Given the description of an element on the screen output the (x, y) to click on. 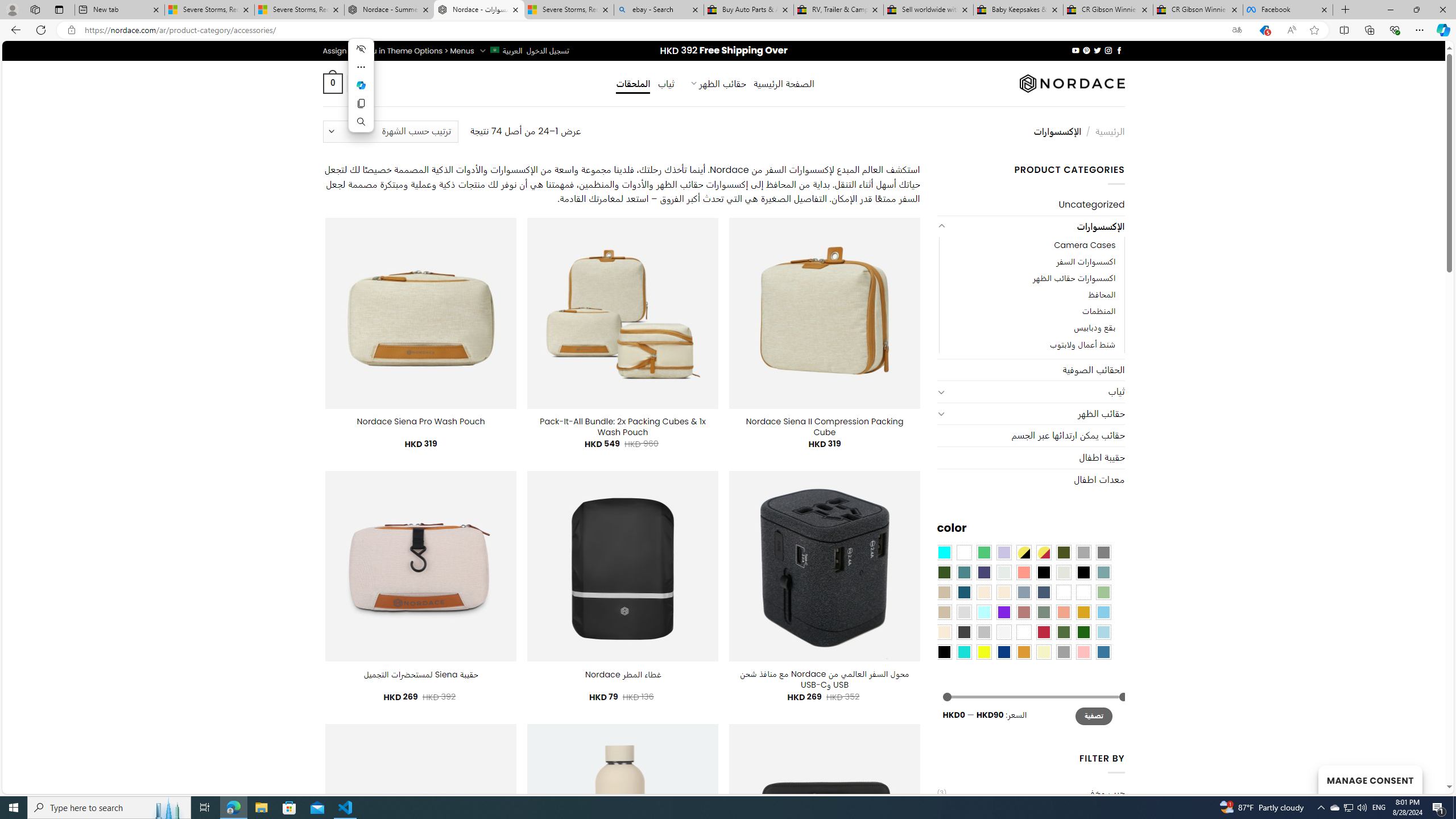
Ask Copilot (360, 85)
Light Purple (1003, 551)
Kelp (1063, 591)
Nordace (1072, 83)
Light Taupe (944, 611)
Nordace - Summer Adventures 2024 (389, 9)
ebay - Search (658, 9)
Refresh (40, 29)
Split screen (1344, 29)
View site information (70, 29)
